Given the description of an element on the screen output the (x, y) to click on. 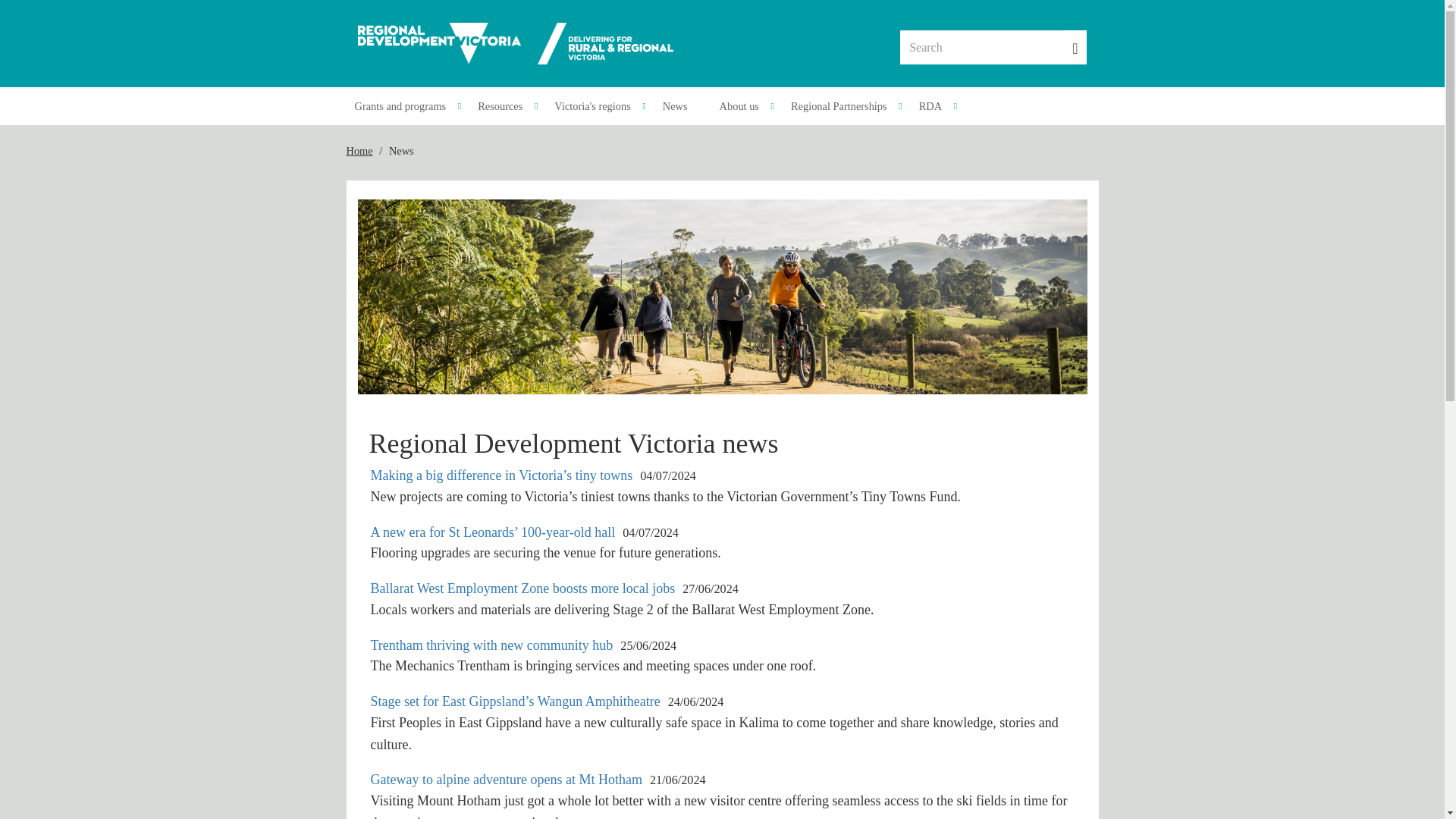
News (682, 105)
Resources (507, 105)
Grants and programs (407, 105)
Victoria's regions (599, 105)
